Given the description of an element on the screen output the (x, y) to click on. 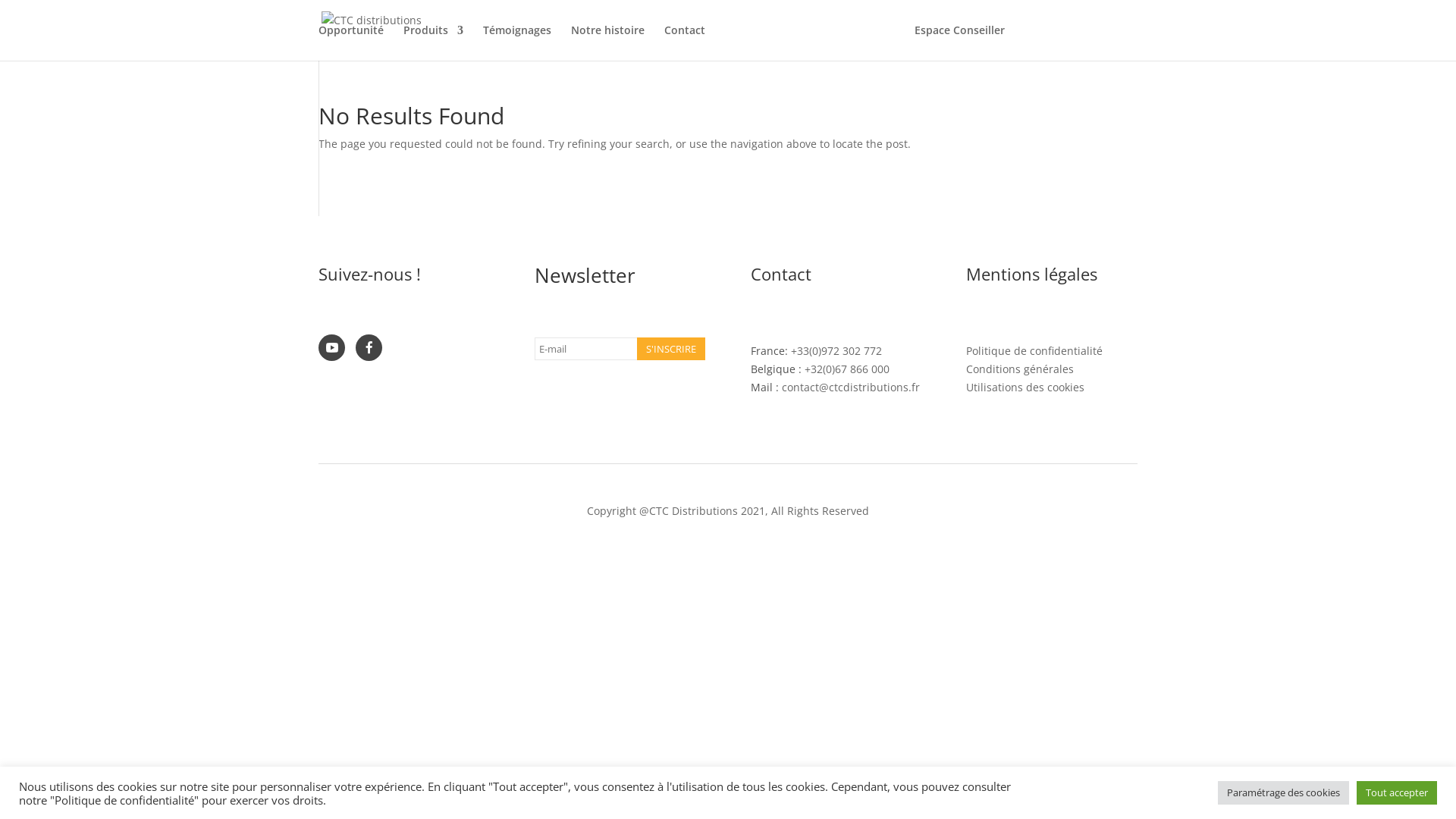
S'INSCRIRE Element type: text (671, 348)
+32(0)67 866 000 Element type: text (846, 368)
Produits Element type: text (433, 42)
+33(0)972 302 772 Element type: text (835, 350)
Notre histoire Element type: text (607, 42)
Contact Element type: text (684, 42)
Tout accepter Element type: text (1396, 792)
Espace Conseiller Element type: text (959, 42)
contact@ctcdistributions.fr Element type: text (850, 386)
Utilisations des cookies Element type: text (1025, 386)
